Given the description of an element on the screen output the (x, y) to click on. 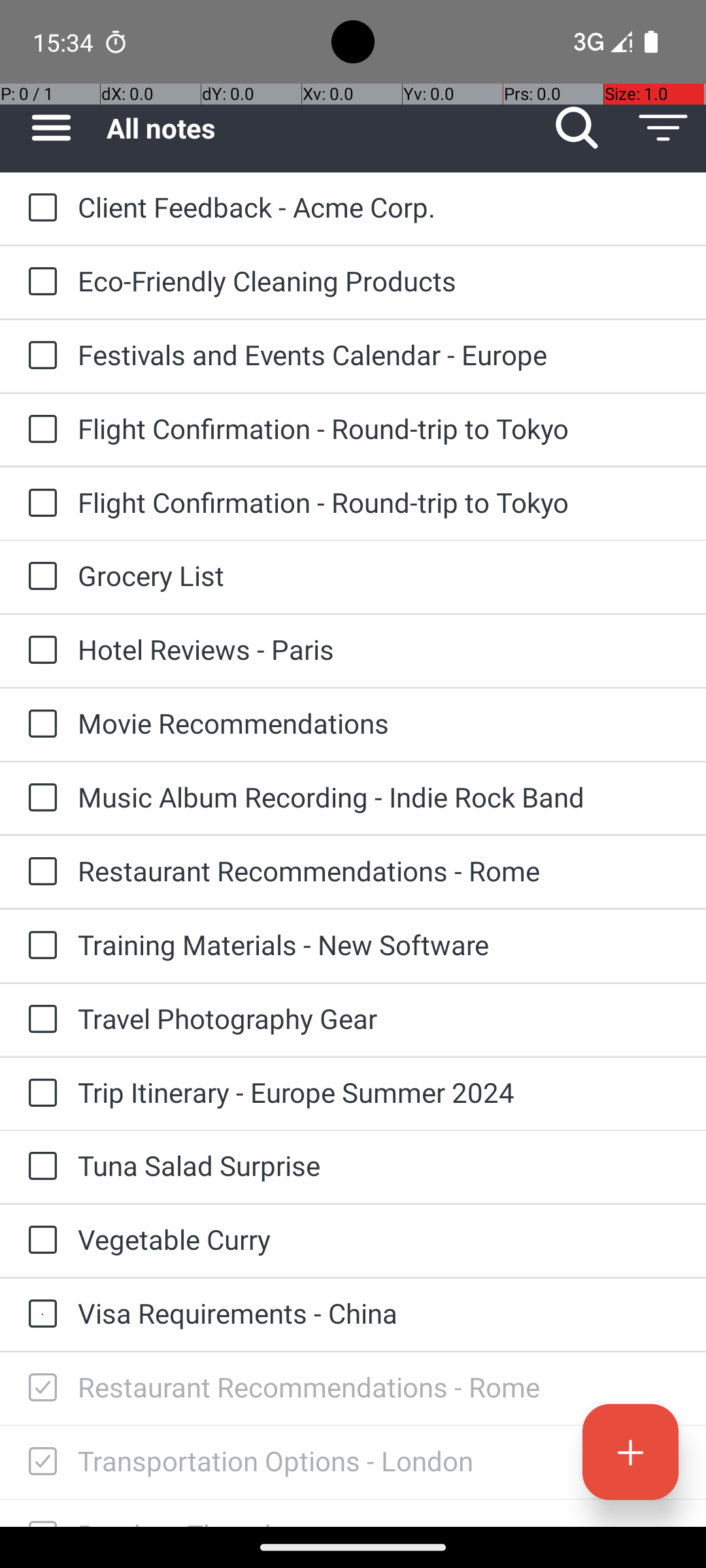
to-do: Eco-Friendly Cleaning Products Element type: android.widget.CheckBox (38, 282)
to-do: Festivals and Events Calendar - Europe Element type: android.widget.CheckBox (38, 356)
Festivals and Events Calendar - Europe Element type: android.widget.TextView (378, 354)
to-do: Movie Recommendations Element type: android.widget.CheckBox (38, 724)
Movie Recommendations Element type: android.widget.TextView (378, 722)
to-do: Training Materials - New Software Element type: android.widget.CheckBox (38, 945)
Training Materials - New Software Element type: android.widget.TextView (378, 944)
to-do: Travel Photography Gear Element type: android.widget.CheckBox (38, 1019)
Travel Photography Gear Element type: android.widget.TextView (378, 1017)
to-do: Trip Itinerary - Europe Summer 2024 Element type: android.widget.CheckBox (38, 1093)
Trip Itinerary - Europe Summer 2024 Element type: android.widget.TextView (378, 1091)
to-do: Tuna Salad Surprise Element type: android.widget.CheckBox (38, 1166)
Tuna Salad Surprise Element type: android.widget.TextView (378, 1164)
to-do: Vegetable Curry Element type: android.widget.CheckBox (38, 1240)
Vegetable Curry Element type: android.widget.TextView (378, 1238)
to-do: Visa Requirements - China Element type: android.widget.CheckBox (38, 1314)
Visa Requirements - China Element type: android.widget.TextView (378, 1312)
to-do: Transportation Options - London Element type: android.widget.CheckBox (38, 1462)
to-do: Random Thoughts Element type: android.widget.CheckBox (38, 1513)
